Given the description of an element on the screen output the (x, y) to click on. 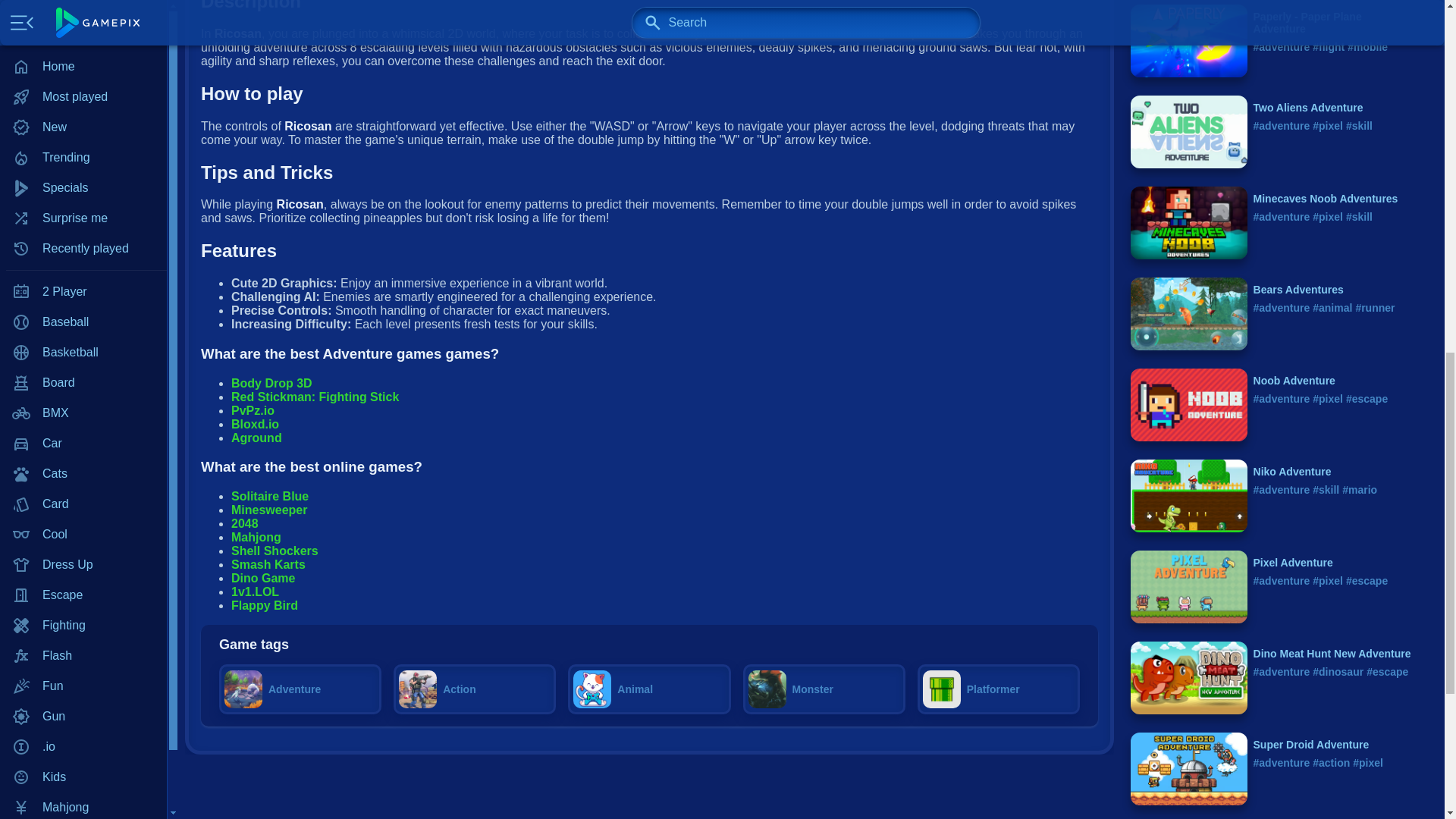
Poker (83, 79)
Mario (83, 19)
Mahjong (83, 2)
Zombie (83, 382)
Word (83, 352)
Soccer (83, 291)
Solitaire (83, 231)
Puzzle (83, 110)
RPG (83, 170)
Shooter (83, 200)
Math (83, 49)
Racing (83, 140)
War (83, 322)
Snake (83, 261)
